Given the description of an element on the screen output the (x, y) to click on. 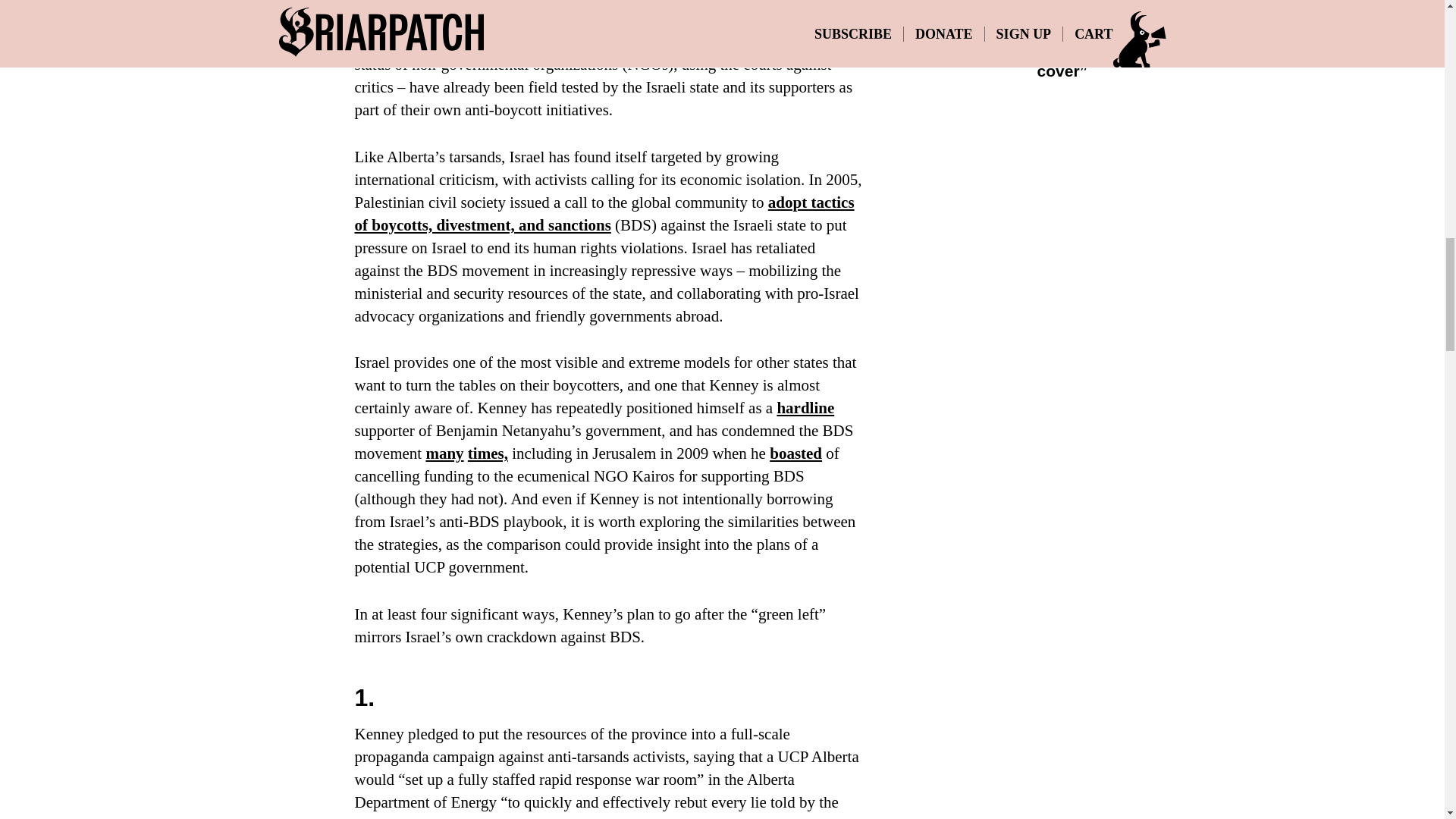
boasted (796, 453)
times, (487, 453)
adopt tactics of boycotts, divestment, and sanctions (604, 213)
hardline (805, 407)
many (444, 453)
